Given the description of an element on the screen output the (x, y) to click on. 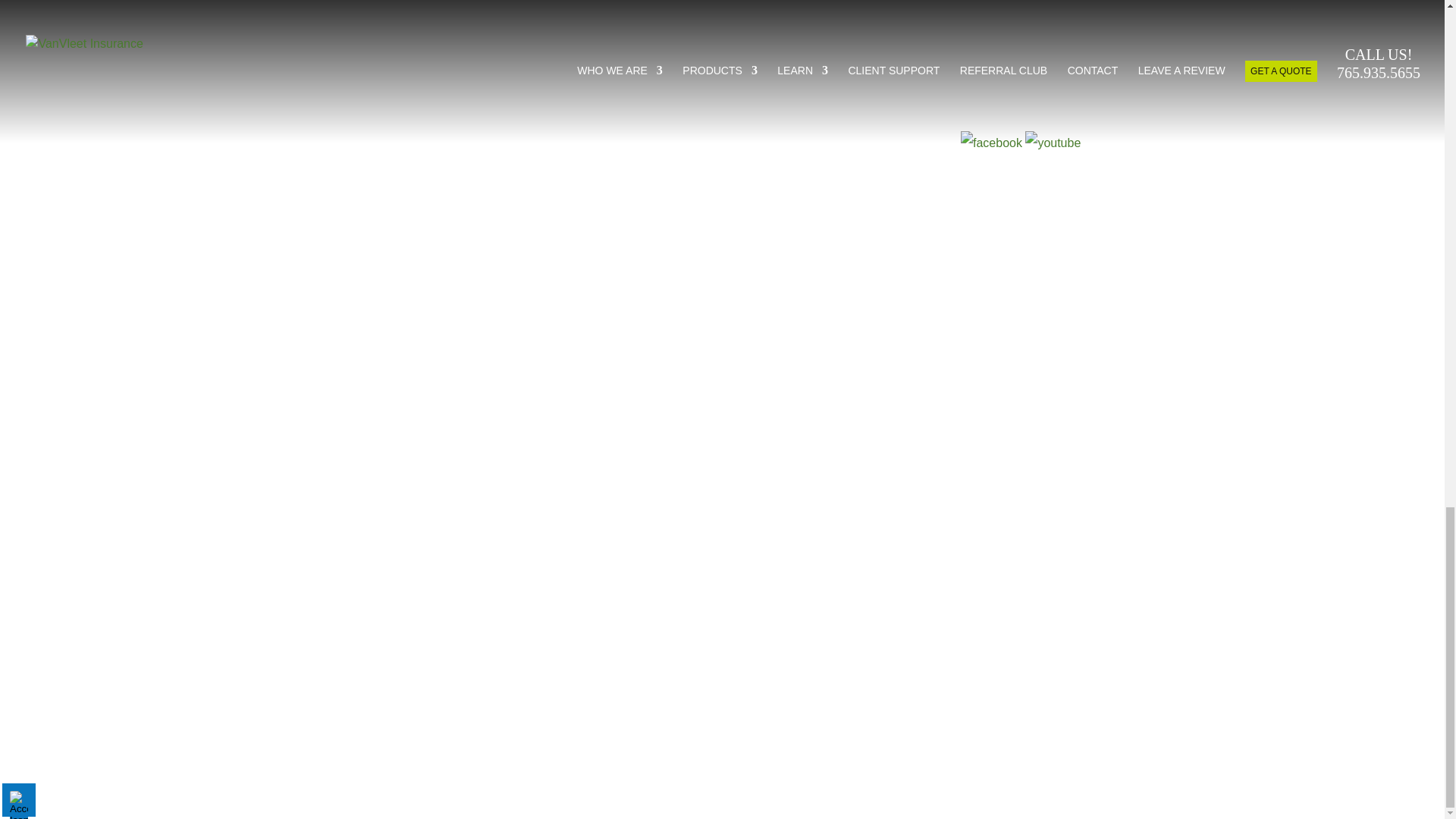
Website Design by Brick Road Media (722, 744)
2023 Customer Appreciation Event- Wednesday, July 19, 2023 (824, 363)
Contact Us (558, 300)
